Given the description of an element on the screen output the (x, y) to click on. 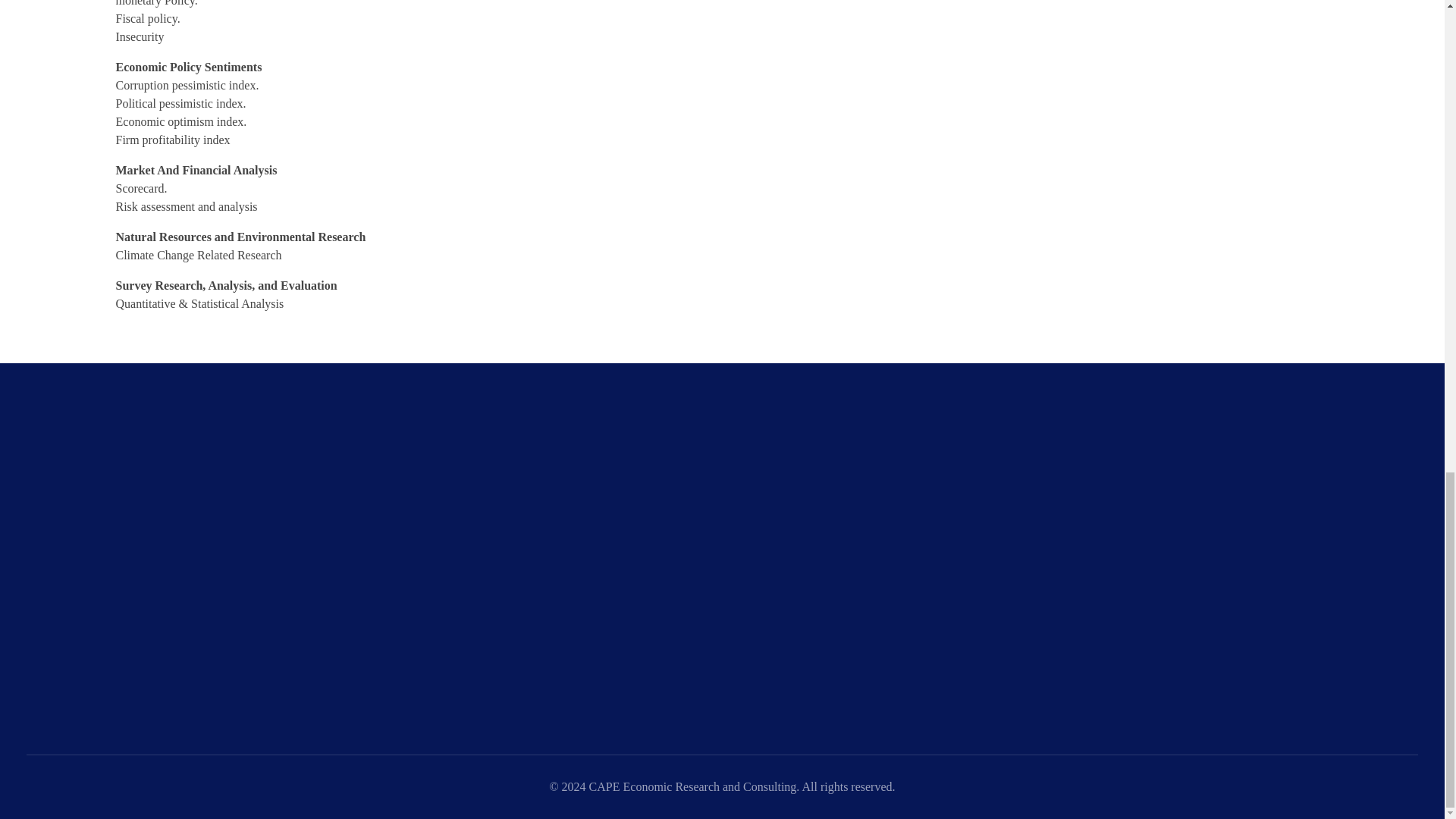
Subscribe (1081, 678)
